Given the description of an element on the screen output the (x, y) to click on. 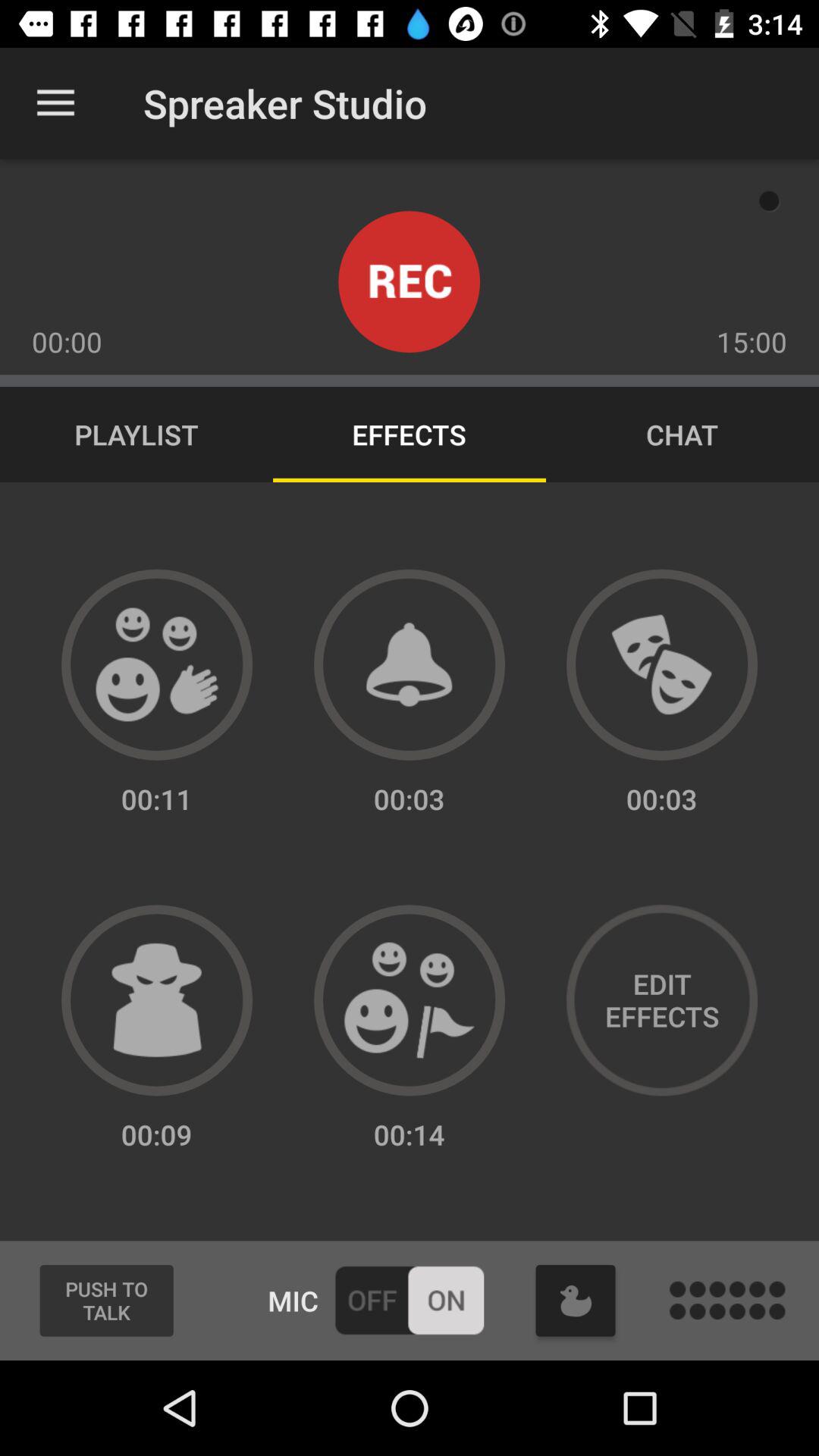
go to emojios (156, 664)
